Given the description of an element on the screen output the (x, y) to click on. 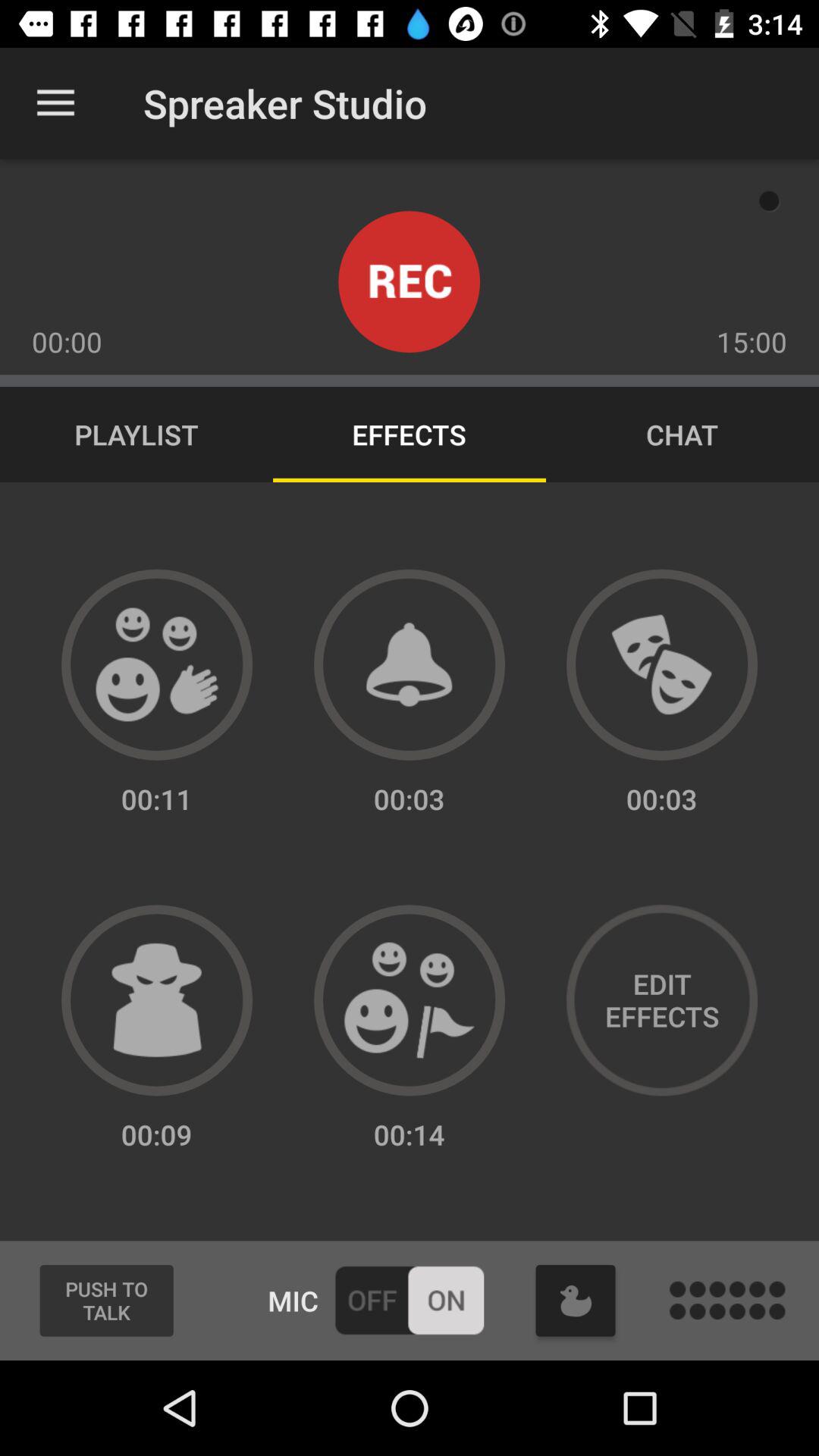
go to emojios (156, 664)
